Given the description of an element on the screen output the (x, y) to click on. 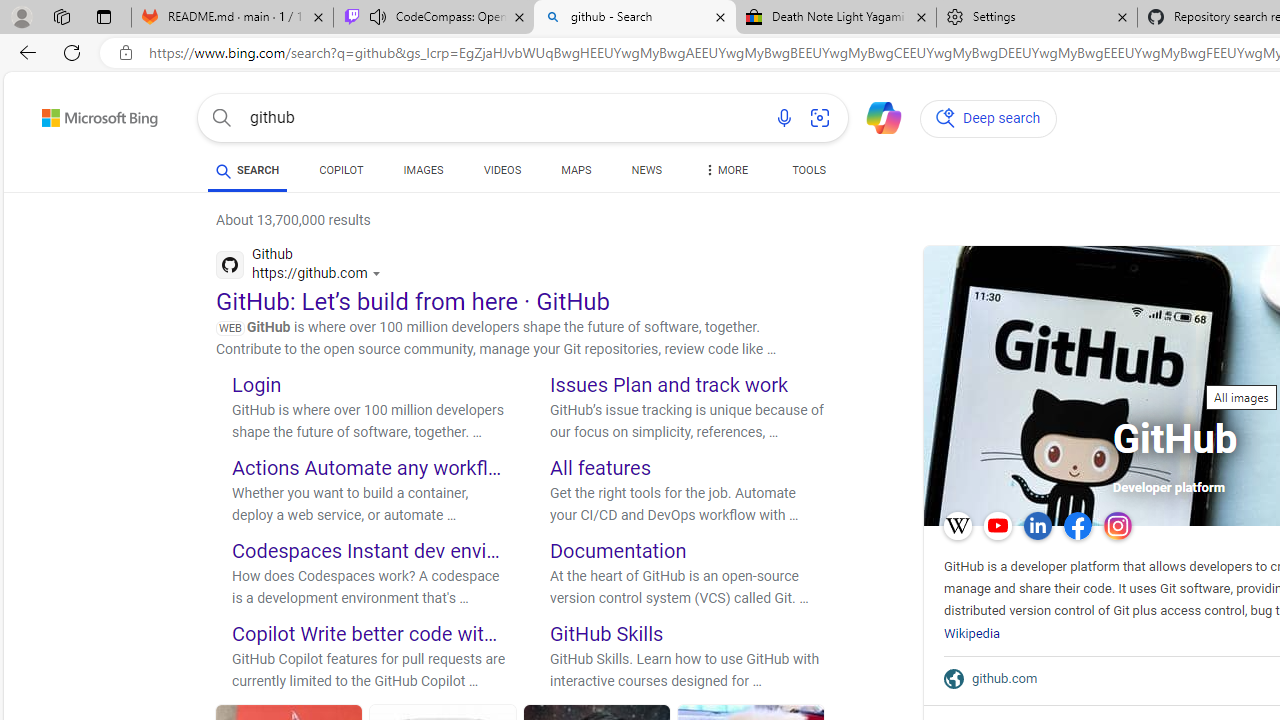
All features (600, 467)
COPILOT (341, 173)
GitHub Skills (607, 632)
Chat (875, 116)
LinkedIn (1038, 525)
